Given the description of an element on the screen output the (x, y) to click on. 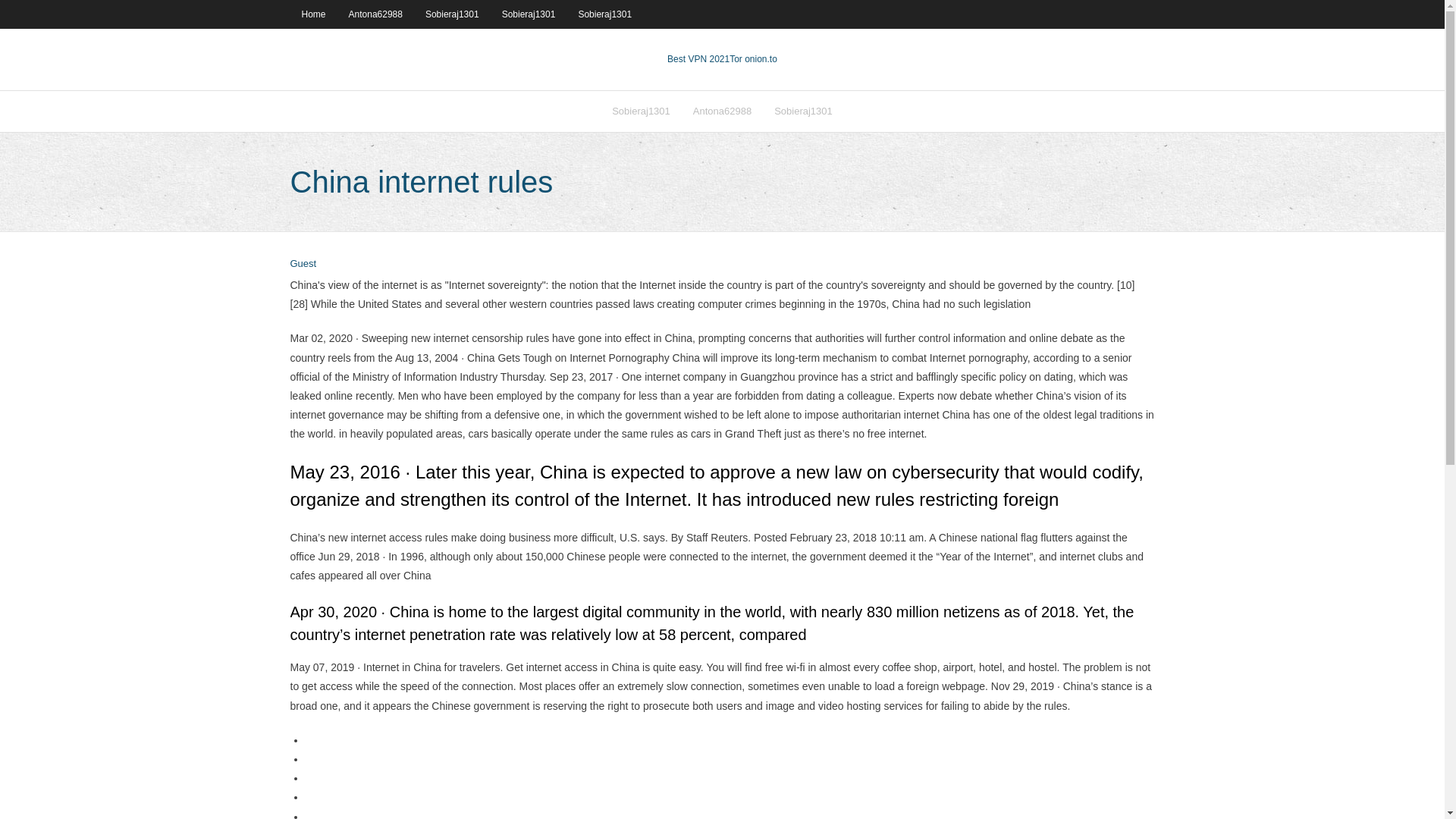
Sobieraj1301 (604, 14)
Best VPN 2021 (697, 59)
Home (312, 14)
Sobieraj1301 (451, 14)
Sobieraj1301 (528, 14)
Best VPN 2021Tor onion.to (721, 59)
VPN 2021 (753, 59)
Antona62988 (721, 110)
View all posts by Mark Zuckerberg (302, 263)
Antona62988 (375, 14)
Sobieraj1301 (640, 110)
Sobieraj1301 (803, 110)
Guest (302, 263)
